Given the description of an element on the screen output the (x, y) to click on. 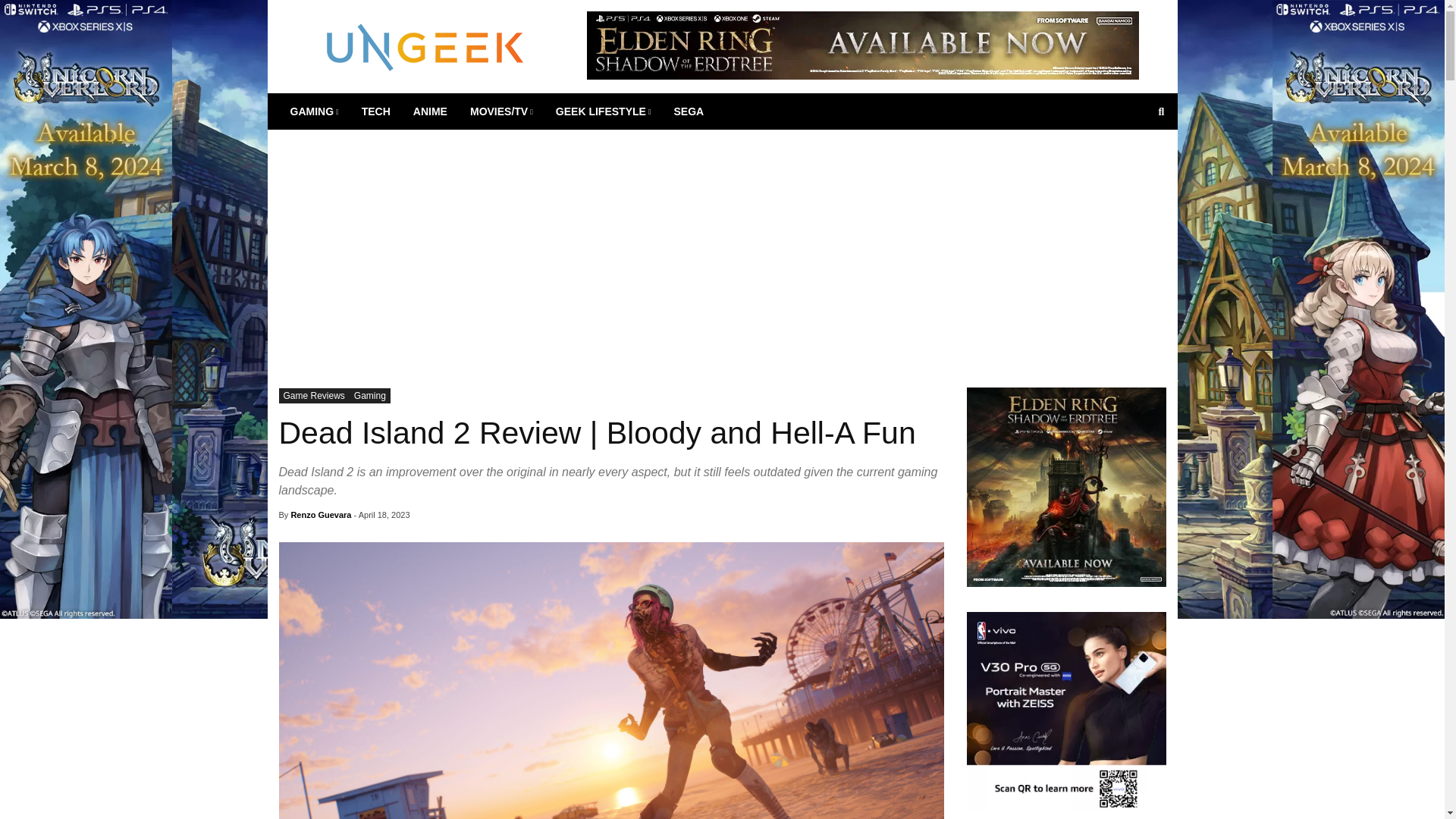
GAMING (314, 111)
April 18, 2023 (384, 514)
UnGeek (424, 46)
SEGA (689, 111)
TECH (375, 111)
GEEK LIFESTYLE (603, 111)
ANIME (429, 111)
Gaming (369, 395)
UnGeek (425, 46)
Renzo Guevara (319, 514)
Game Reviews (314, 395)
Posts by Renzo Guevara (319, 514)
